Given the description of an element on the screen output the (x, y) to click on. 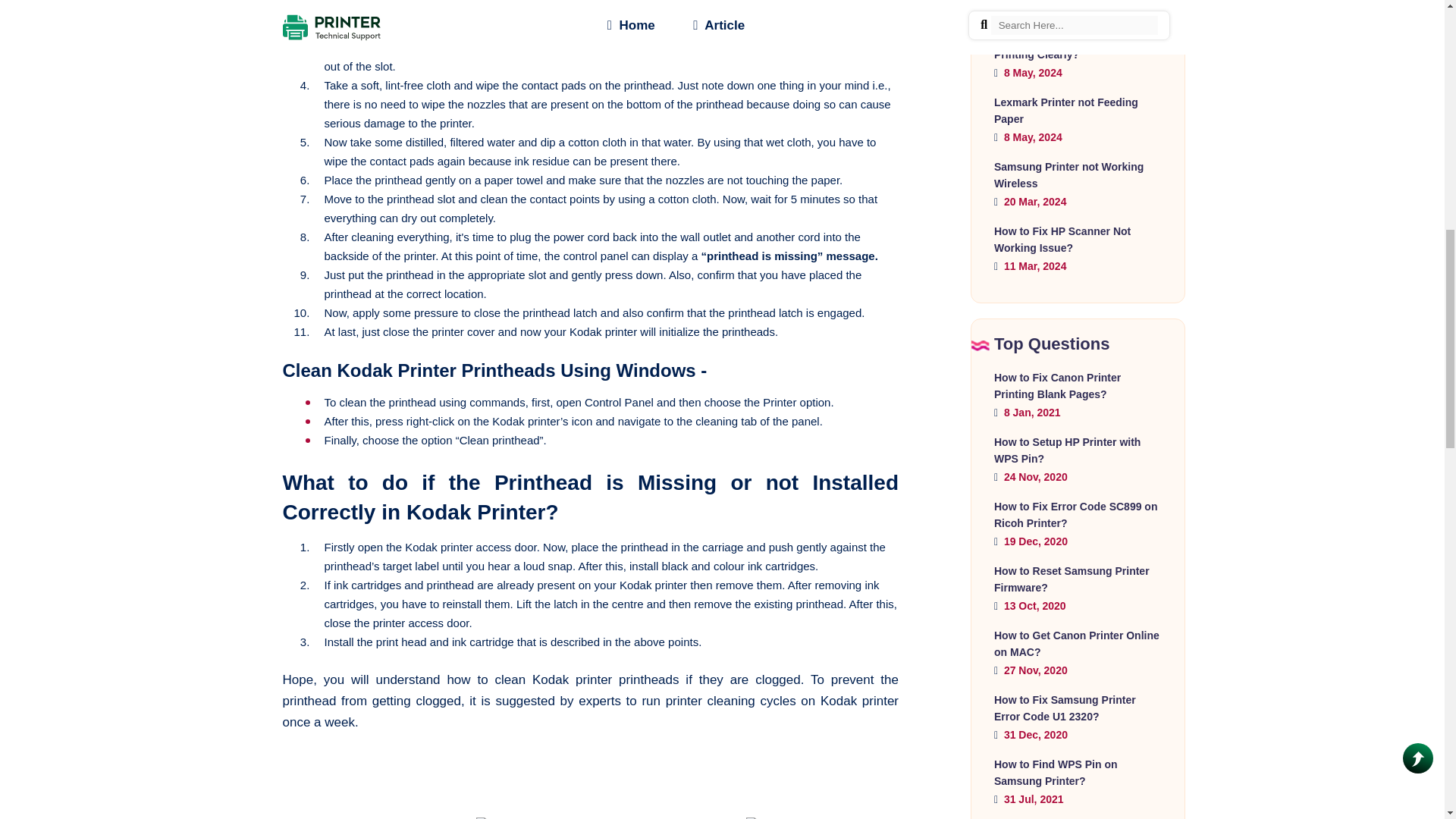
How to Fix Samsung Printer Error Code U1 2320? (1064, 707)
Why My Samsung Printer is Not Printing Clearly? (1074, 45)
How to Fix Error Code SC899 on Ricoh Printer? (1075, 514)
Lexmark Printer not Feeding Paper (1066, 110)
How to Setup HP Printer with WPS Pin? (1067, 450)
Samsung Printer not Working Wireless (1068, 174)
How to Find WPS Pin on Samsung Printer? (1056, 772)
How to Get Canon Printer Online on MAC? (1076, 643)
How to Fix HP Scanner Not Working Issue? (1062, 239)
How to Fix Canon Printer Printing Blank Pages? (1057, 385)
How to Reset Samsung Printer Firmware? (1072, 579)
